Given the description of an element on the screen output the (x, y) to click on. 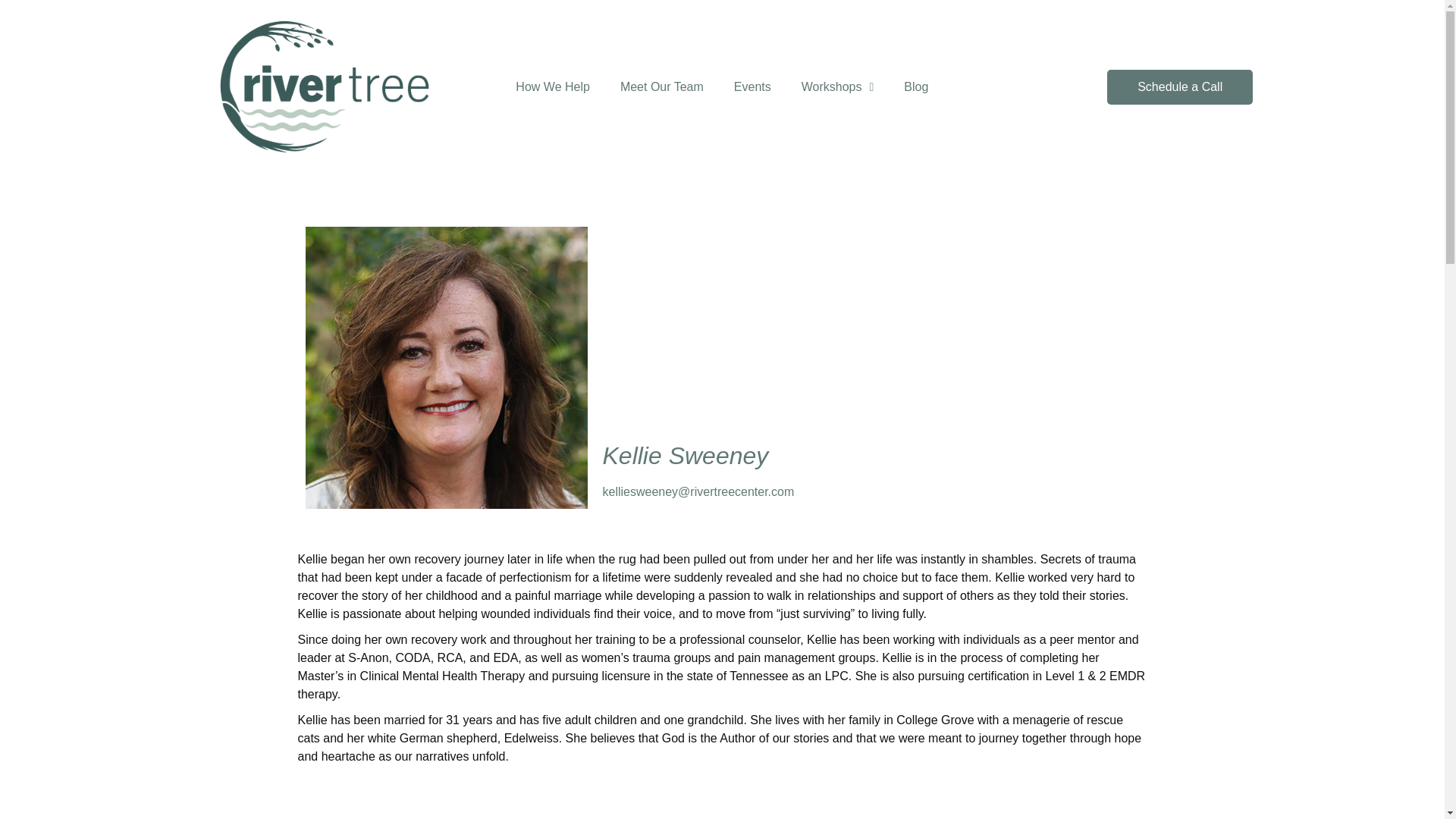
Blog (915, 86)
Schedule a Call (1179, 86)
Workshops (837, 86)
How We Help (552, 86)
Meet Our Team (662, 86)
Events (752, 86)
